Given the description of an element on the screen output the (x, y) to click on. 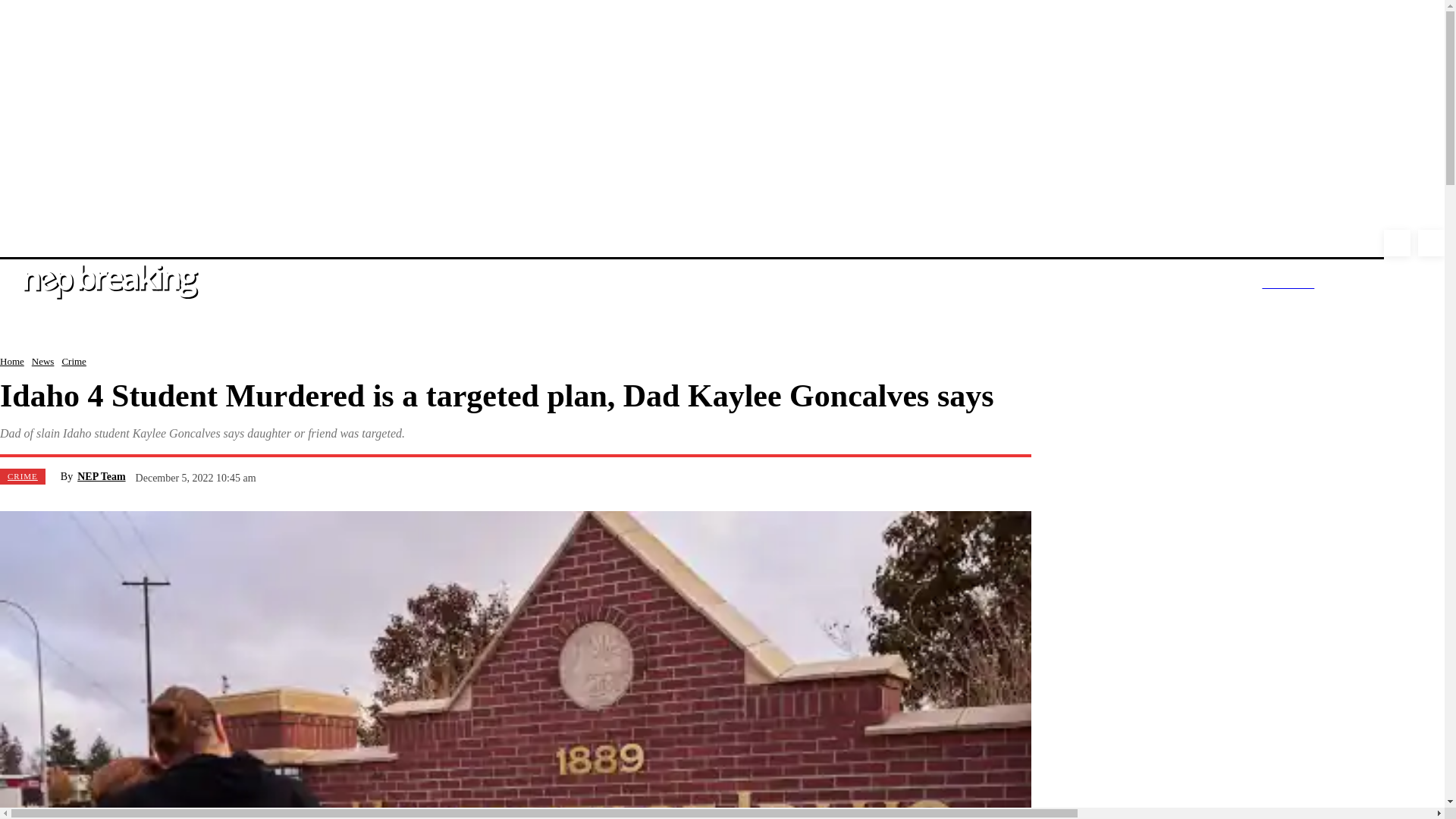
Youtube (1397, 243)
Idaho students Murder (187, 241)
Celebrity News (470, 241)
Politics (272, 241)
Entertainment (388, 241)
Weather (323, 241)
Business (1055, 241)
NBA (871, 241)
Music News (548, 241)
Defense (1110, 241)
Schedule (918, 241)
Soccer (969, 241)
Golf (1009, 241)
US News (57, 241)
Sports (605, 241)
